Given the description of an element on the screen output the (x, y) to click on. 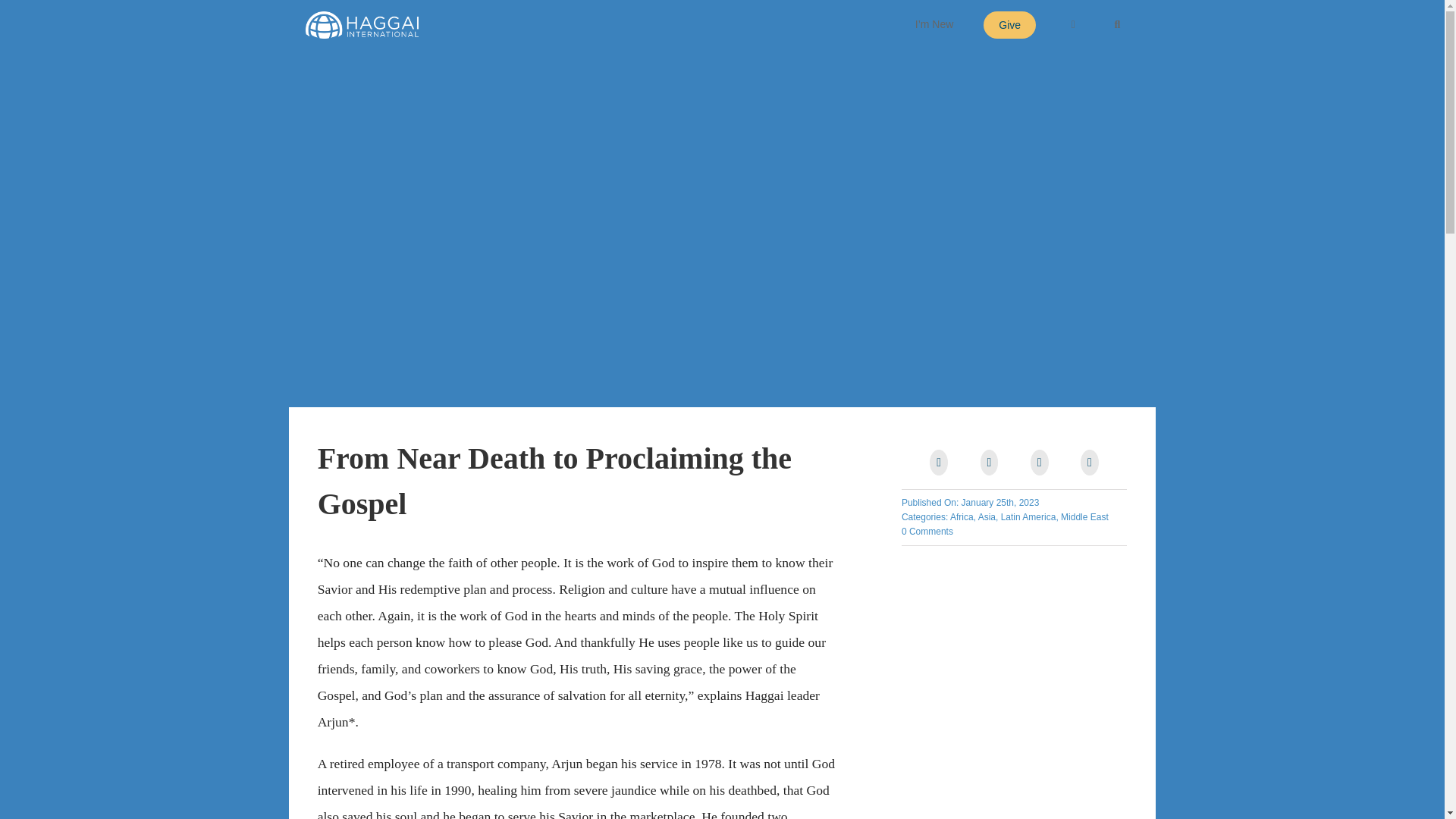
Asia (986, 516)
Give (1009, 24)
Search (1116, 24)
Africa (962, 516)
Latin America (1029, 516)
